Given the description of an element on the screen output the (x, y) to click on. 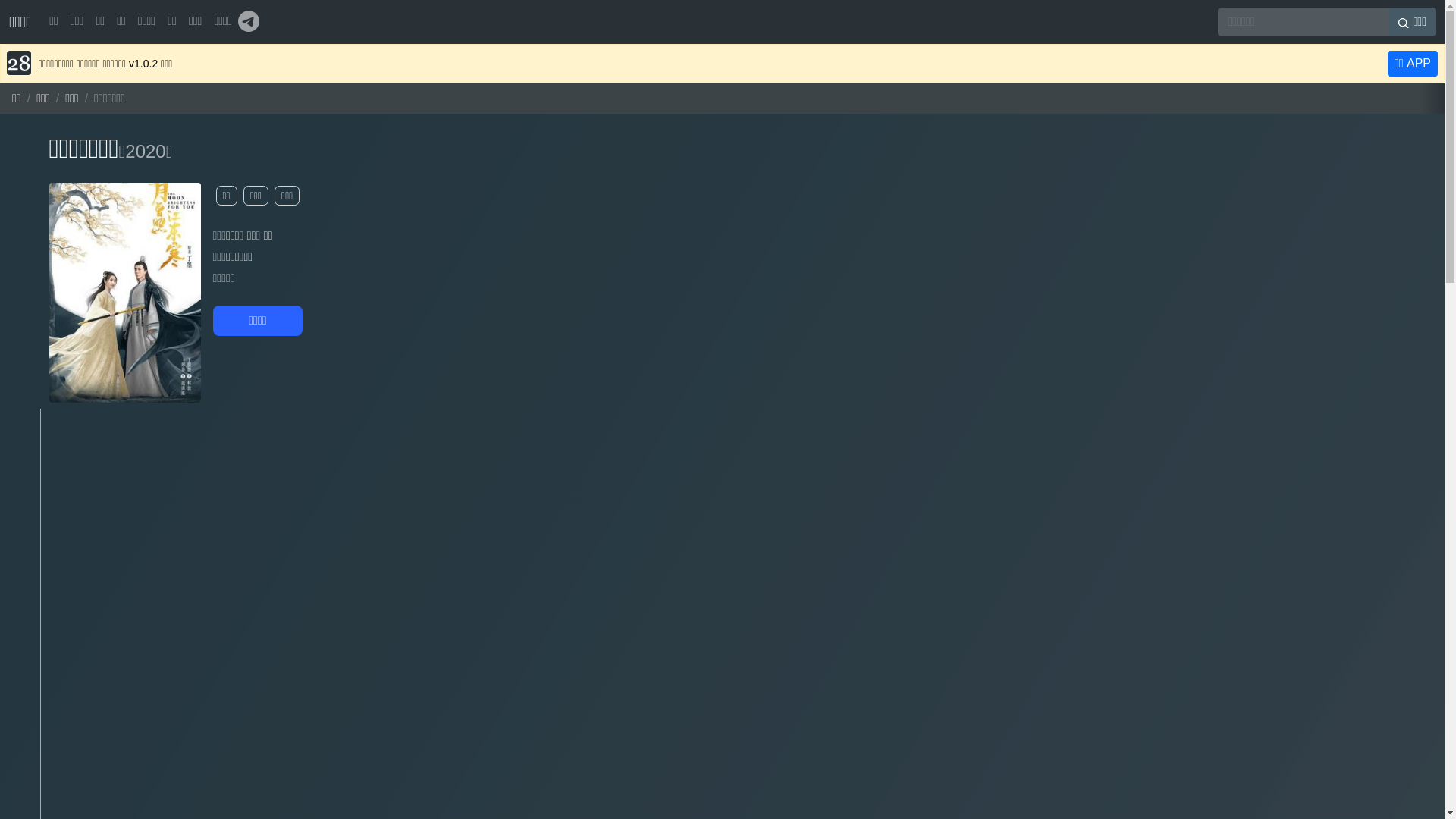
2020 Element type: text (145, 151)
